Given the description of an element on the screen output the (x, y) to click on. 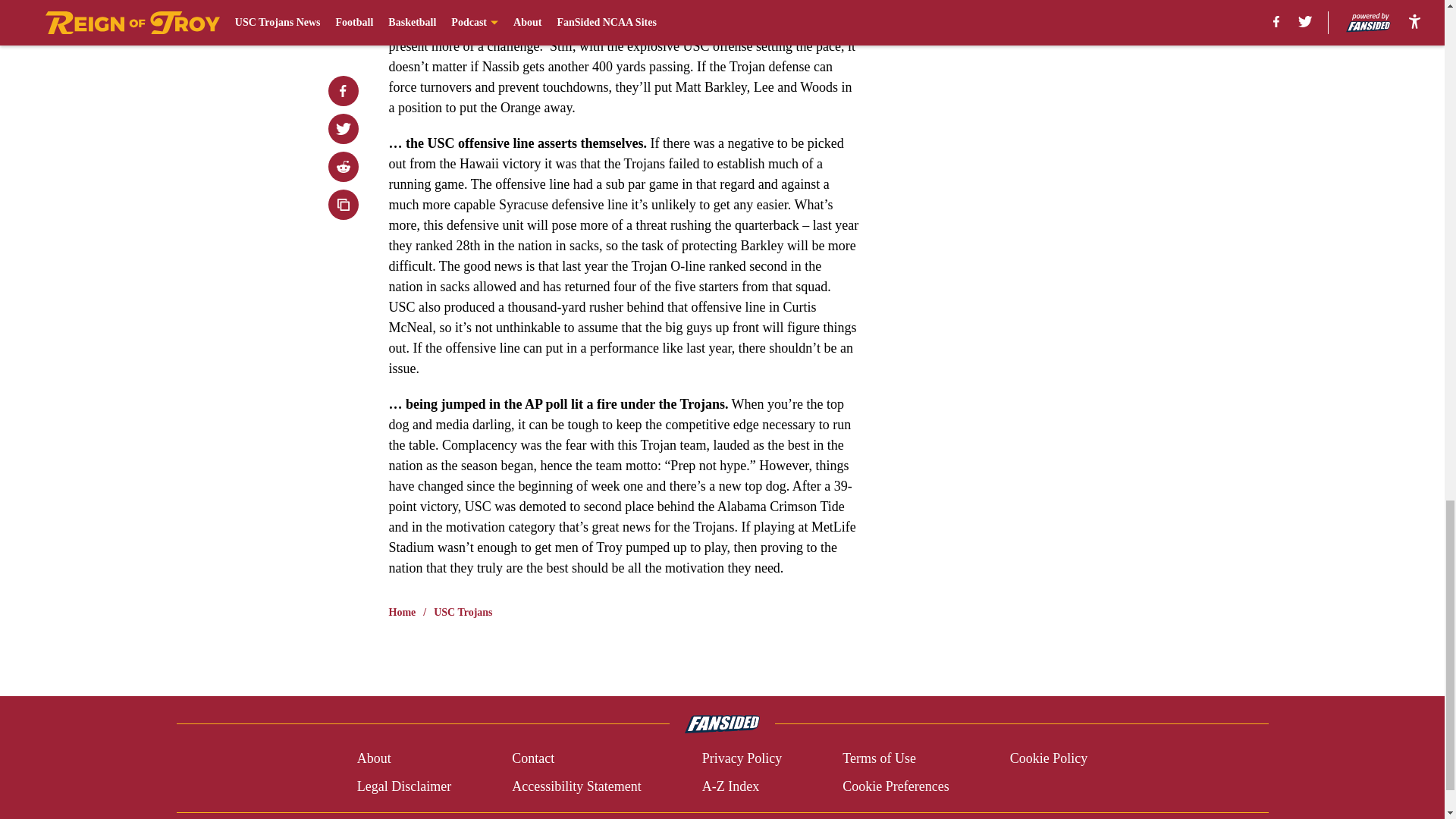
Cookie Preferences (896, 786)
Accessibility Statement (576, 786)
Home (401, 612)
Privacy Policy (742, 758)
A-Z Index (729, 786)
USC Trojans (462, 612)
About (373, 758)
Contact (533, 758)
Legal Disclaimer (403, 786)
Cookie Policy (1048, 758)
Terms of Use (879, 758)
